Given the description of an element on the screen output the (x, y) to click on. 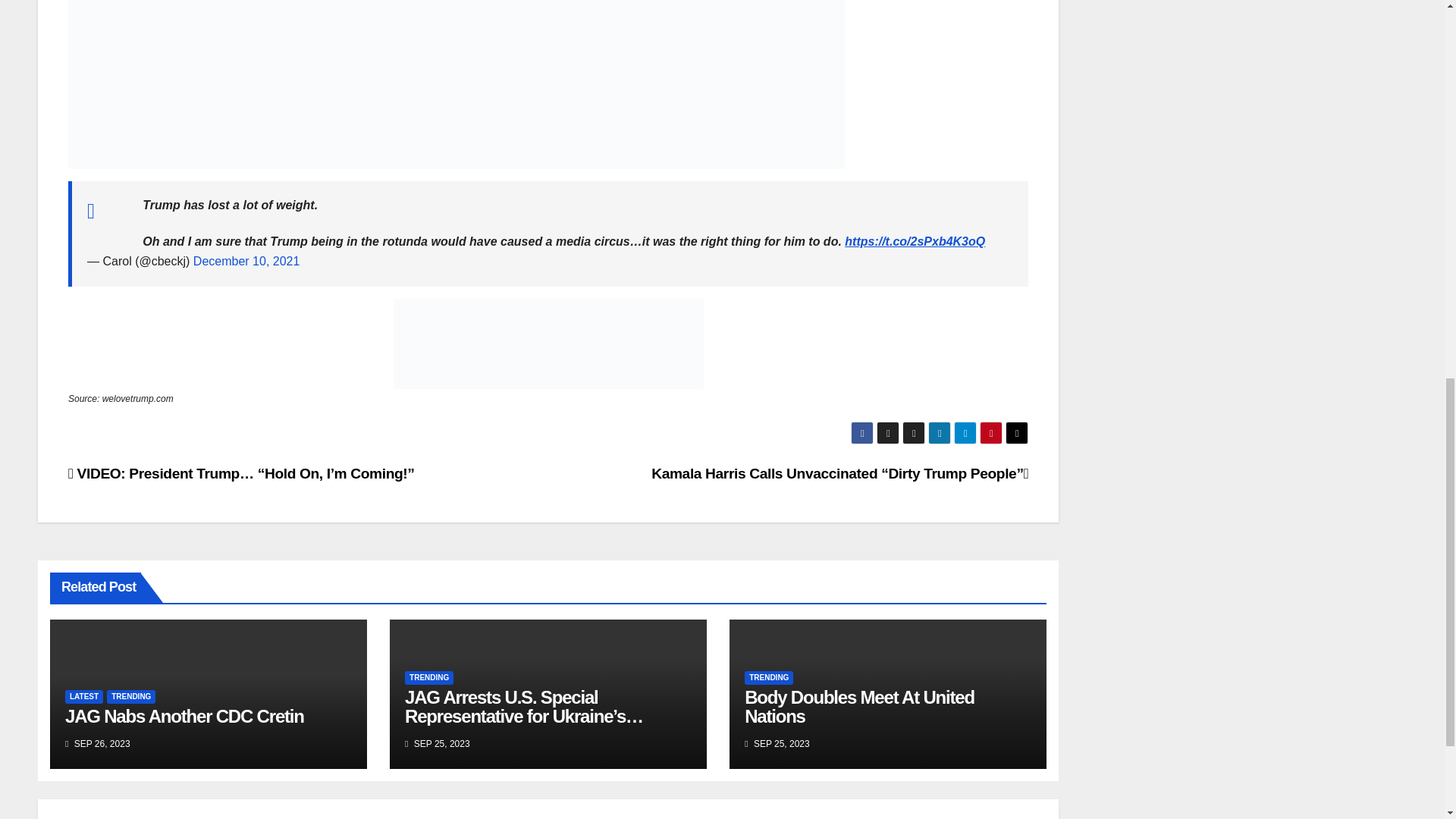
TRENDING (768, 677)
Permalink to: JAG Nabs Another CDC Cretin (184, 715)
Permalink to: Body Doubles Meet At United Nations (859, 706)
TRENDING (428, 677)
LATEST (84, 696)
December 10, 2021 (246, 260)
TRENDING (130, 696)
JAG Nabs Another CDC Cretin (184, 715)
